Given the description of an element on the screen output the (x, y) to click on. 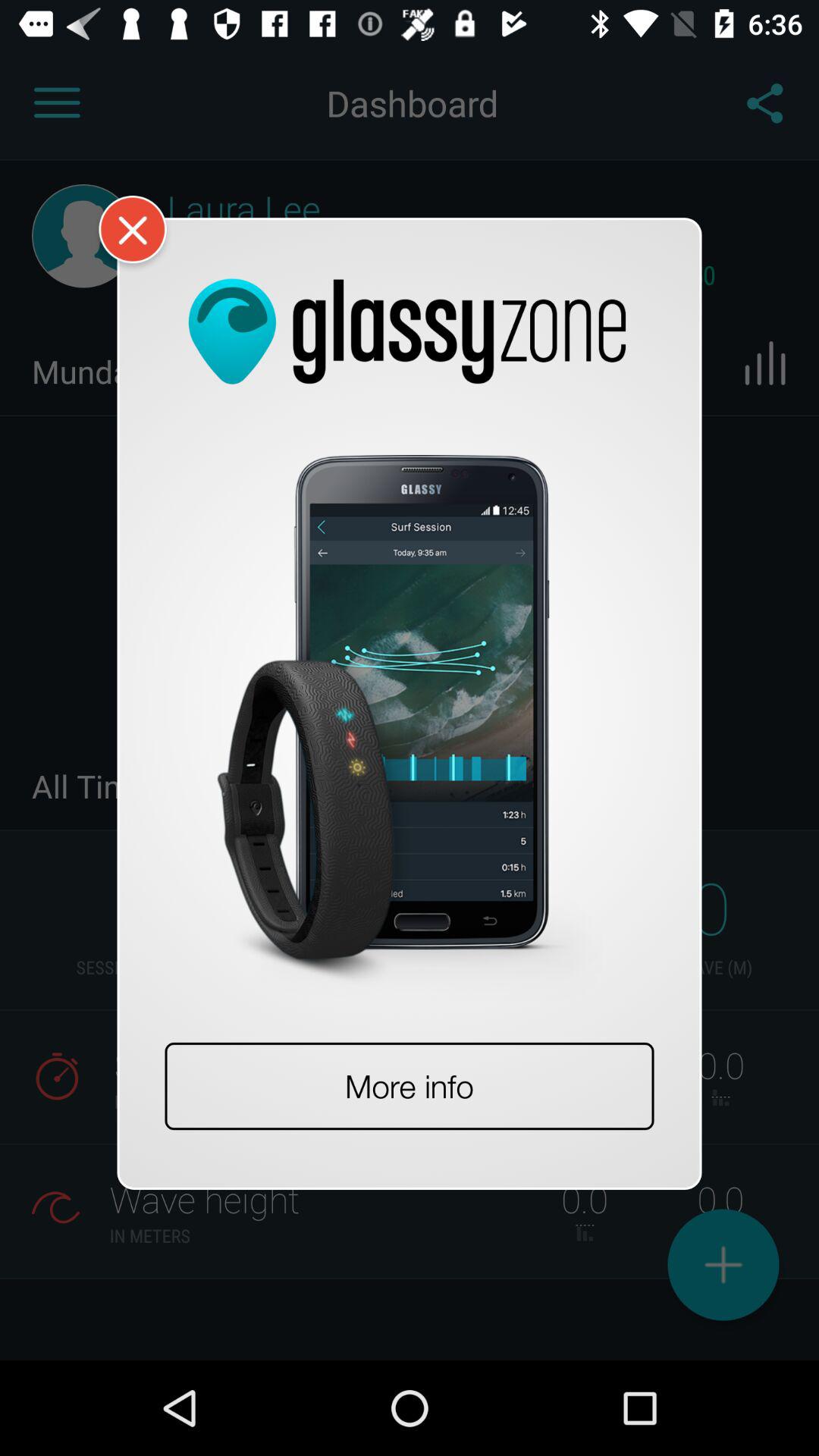
open more info at the bottom (409, 1086)
